Given the description of an element on the screen output the (x, y) to click on. 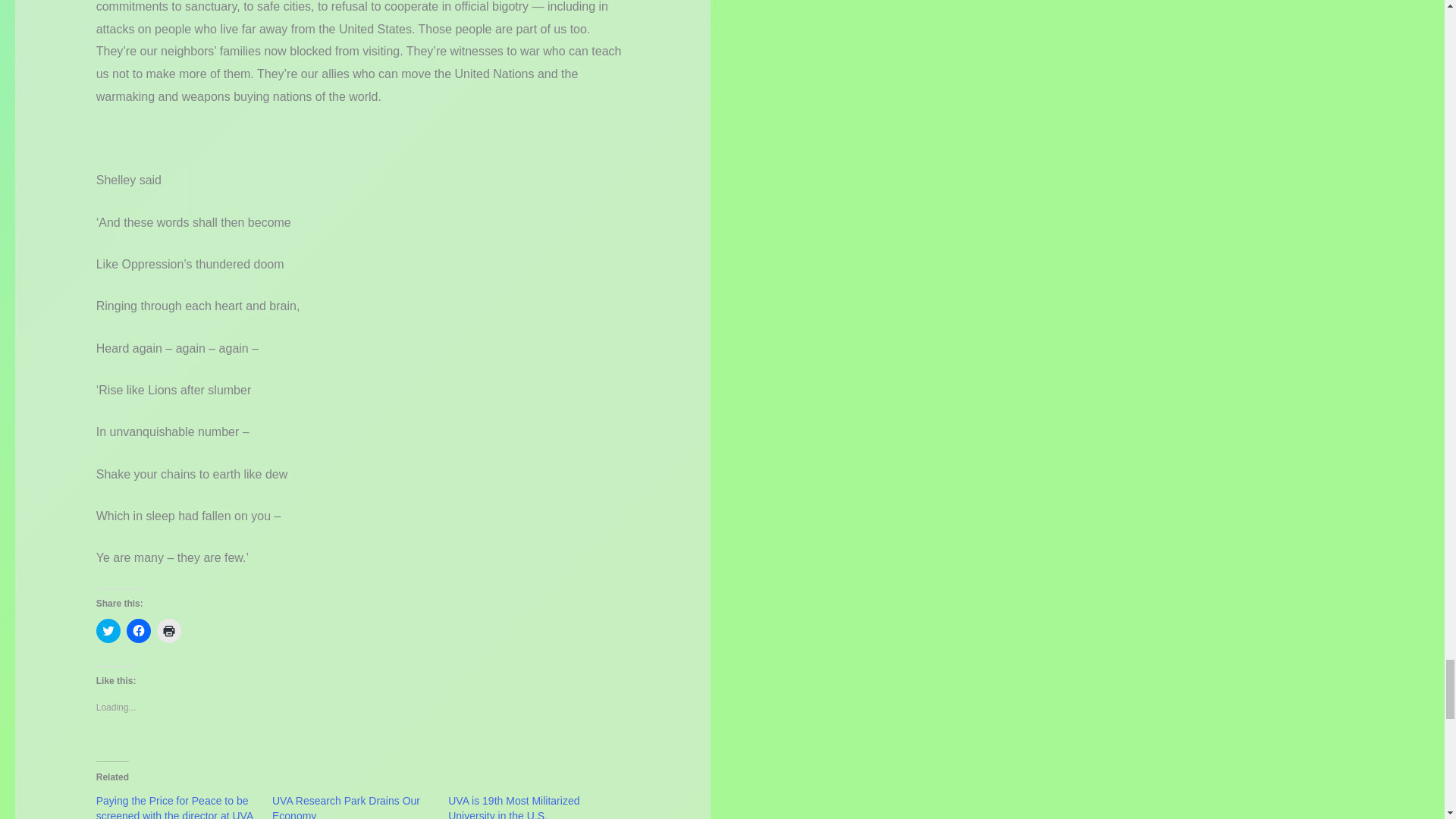
Click to share on Twitter (108, 630)
Click to print (168, 630)
UVA is 19th Most Militarized University in the U.S. (513, 806)
UVA Research Park Drains Our Economy (346, 806)
Click to share on Facebook (138, 630)
